Given the description of an element on the screen output the (x, y) to click on. 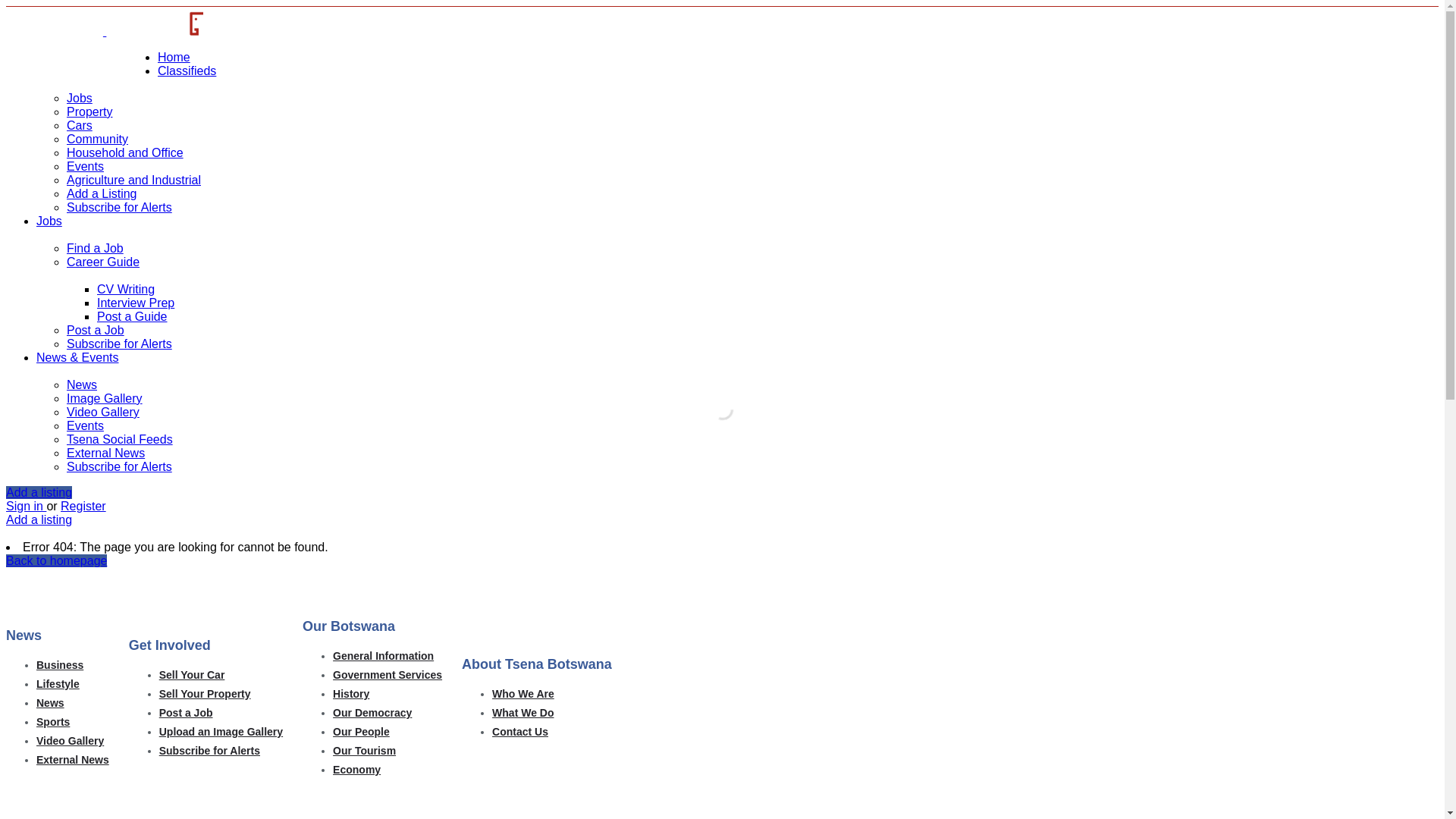
What We Do Element type: text (522, 712)
CV Writing Element type: text (125, 288)
Our Democracy Element type: text (371, 712)
Jobs Element type: text (49, 220)
Sports Element type: text (52, 721)
Jobs Element type: text (79, 97)
Upload an Image Gallery Element type: text (220, 731)
Home Element type: text (173, 56)
Subscribe for Alerts Element type: text (119, 343)
Sign in Element type: text (26, 505)
News Element type: text (81, 384)
News Element type: text (50, 702)
Who We Are Element type: text (523, 693)
Register Element type: text (83, 505)
Household and Office Element type: text (124, 152)
Interview Prep Element type: text (135, 302)
Post a Job Element type: text (95, 329)
Our Tourism Element type: text (363, 750)
Subscribe for Alerts Element type: text (119, 206)
Events Element type: text (84, 425)
Sell Your Car Element type: text (192, 674)
Subscribe for Alerts Element type: text (209, 750)
External News Element type: text (105, 452)
Add a listing Element type: text (39, 492)
Tsena Social Feeds Element type: text (119, 439)
Economy Element type: text (356, 769)
Agriculture and Industrial Element type: text (133, 179)
Government Services Element type: text (387, 674)
Subscribe for Alerts Element type: text (119, 466)
Lifestyle Element type: text (57, 683)
Back to homepage Element type: text (56, 560)
Add a Listing Element type: text (101, 193)
Post a Job Element type: text (186, 712)
Classifieds Element type: text (186, 70)
External News Element type: text (72, 759)
Career Guide Element type: text (102, 261)
Add a listing Element type: text (39, 519)
News & Events Element type: text (77, 357)
Our People Element type: text (360, 731)
Post a Guide Element type: text (132, 316)
Contact Us Element type: text (520, 731)
Business Element type: text (59, 664)
Image Gallery Element type: text (104, 398)
General Information Element type: text (382, 655)
Cars Element type: text (79, 125)
Video Gallery Element type: text (102, 411)
Community Element type: text (97, 138)
Find a Job Element type: text (94, 247)
Video Gallery Element type: text (69, 740)
Property Element type: text (89, 111)
Sell Your Property Element type: text (205, 693)
Events Element type: text (84, 166)
History Element type: text (350, 693)
